Given the description of an element on the screen output the (x, y) to click on. 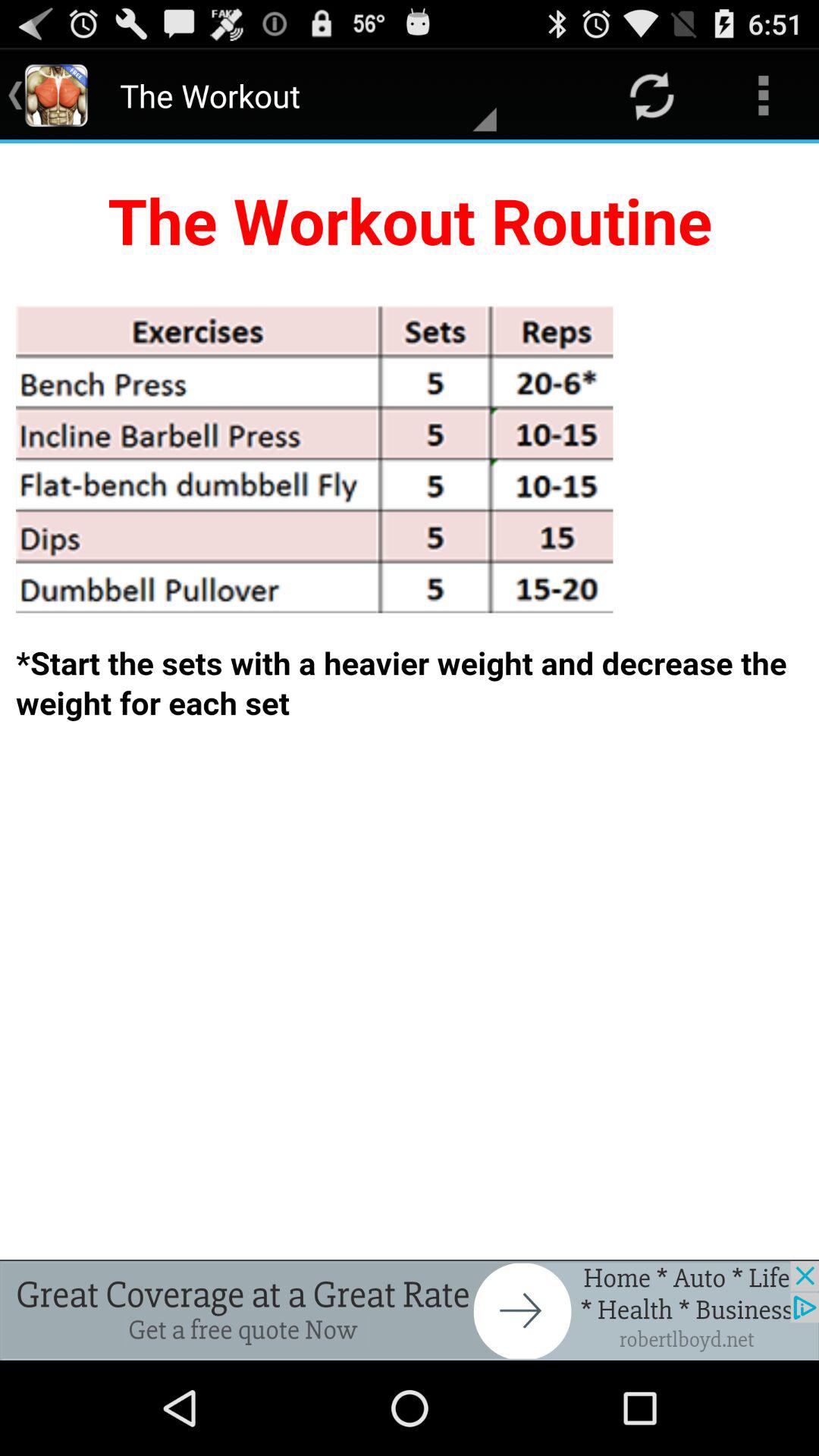
explore the advertisement (409, 1310)
